Given the description of an element on the screen output the (x, y) to click on. 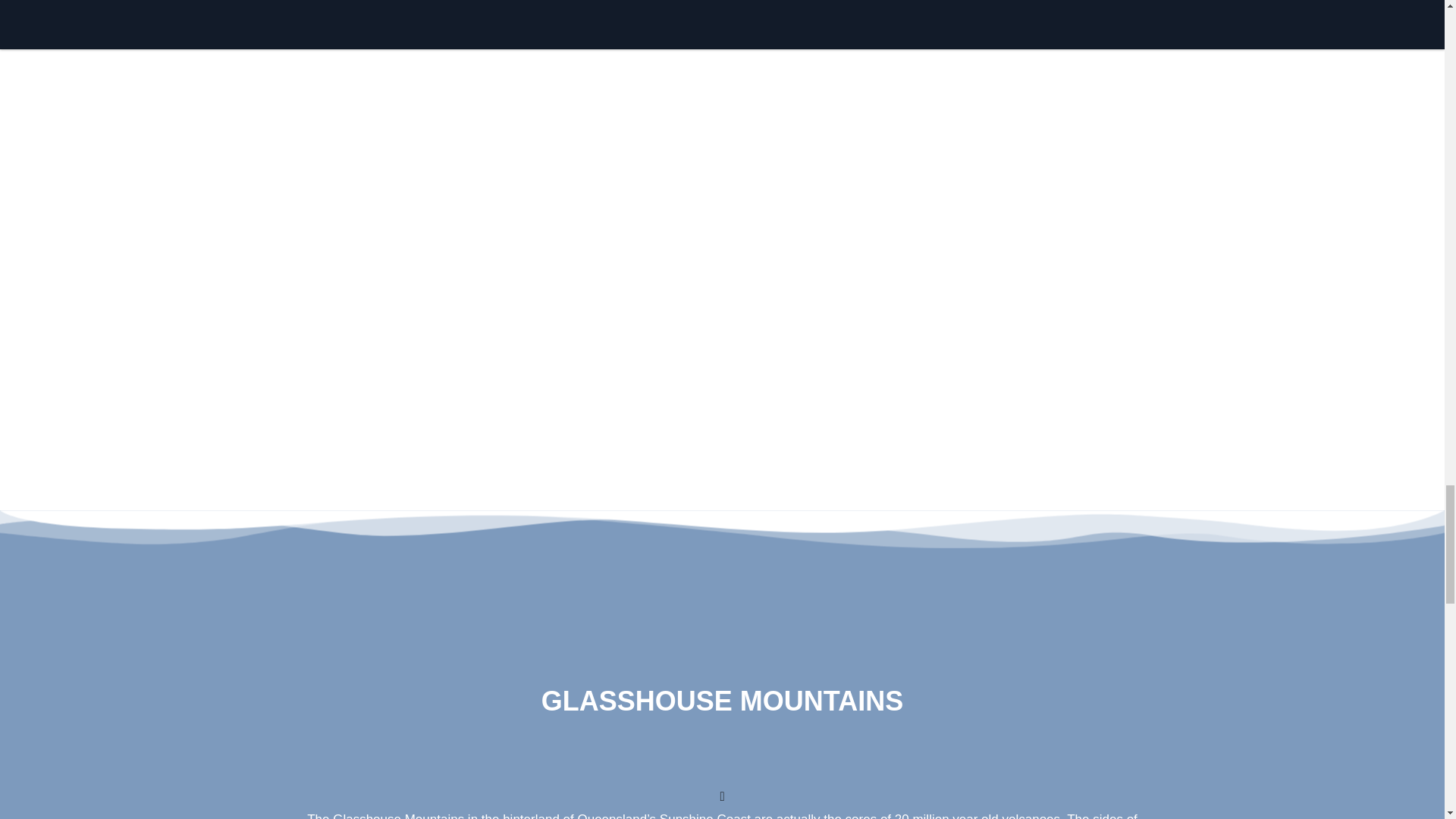
PERTH (340, 269)
HOBART (593, 269)
MELBOURNE (593, 67)
BRISBANE (847, 67)
DARWIN (847, 269)
CANBERRA (1100, 269)
ADELAIDE (1100, 67)
SYDNEY (340, 67)
